Given the description of an element on the screen output the (x, y) to click on. 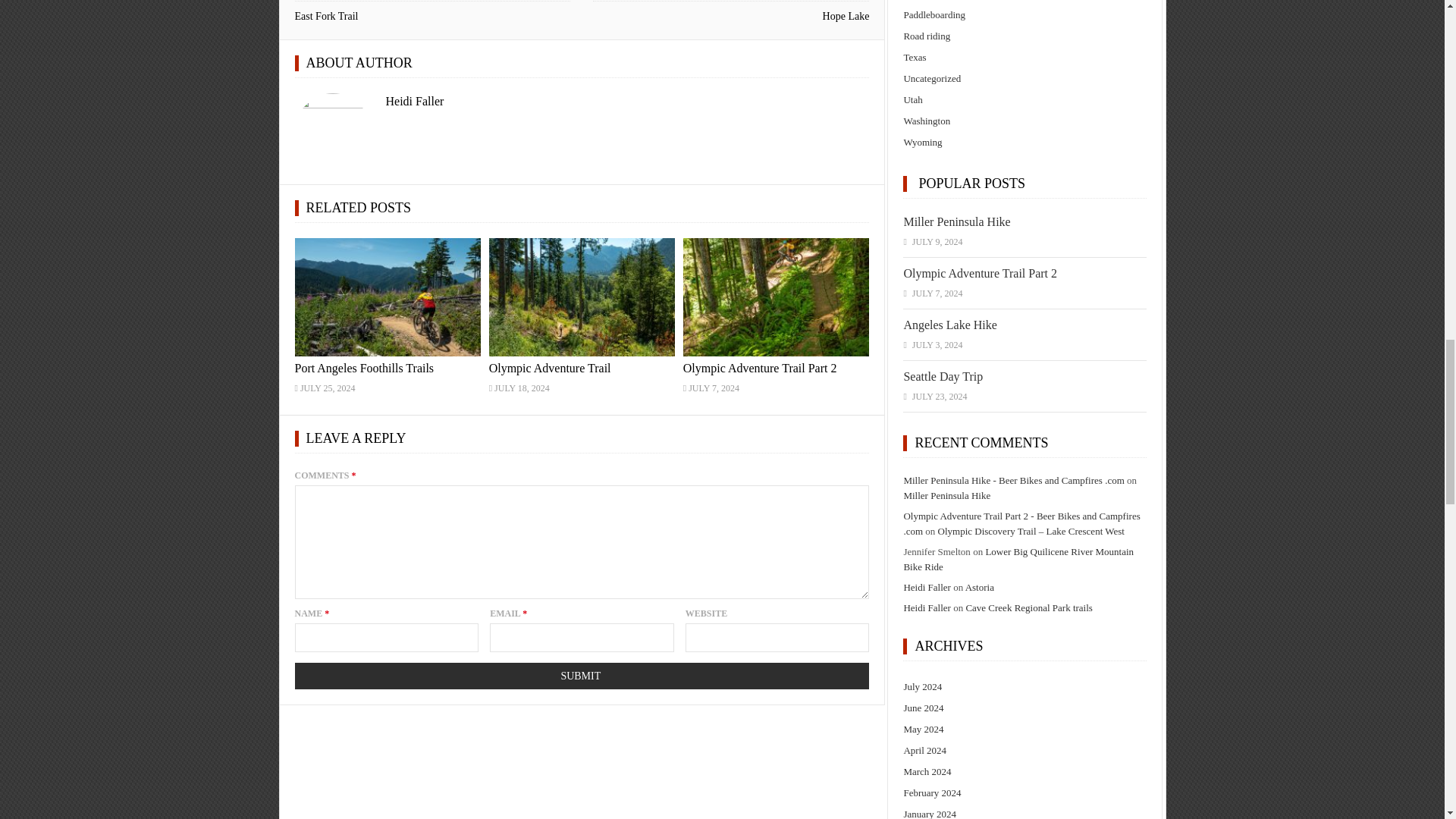
Hope Lake (845, 16)
Submit  (581, 675)
East Fork Trail (326, 16)
Port Angeles Foothills Trails (363, 367)
